Given the description of an element on the screen output the (x, y) to click on. 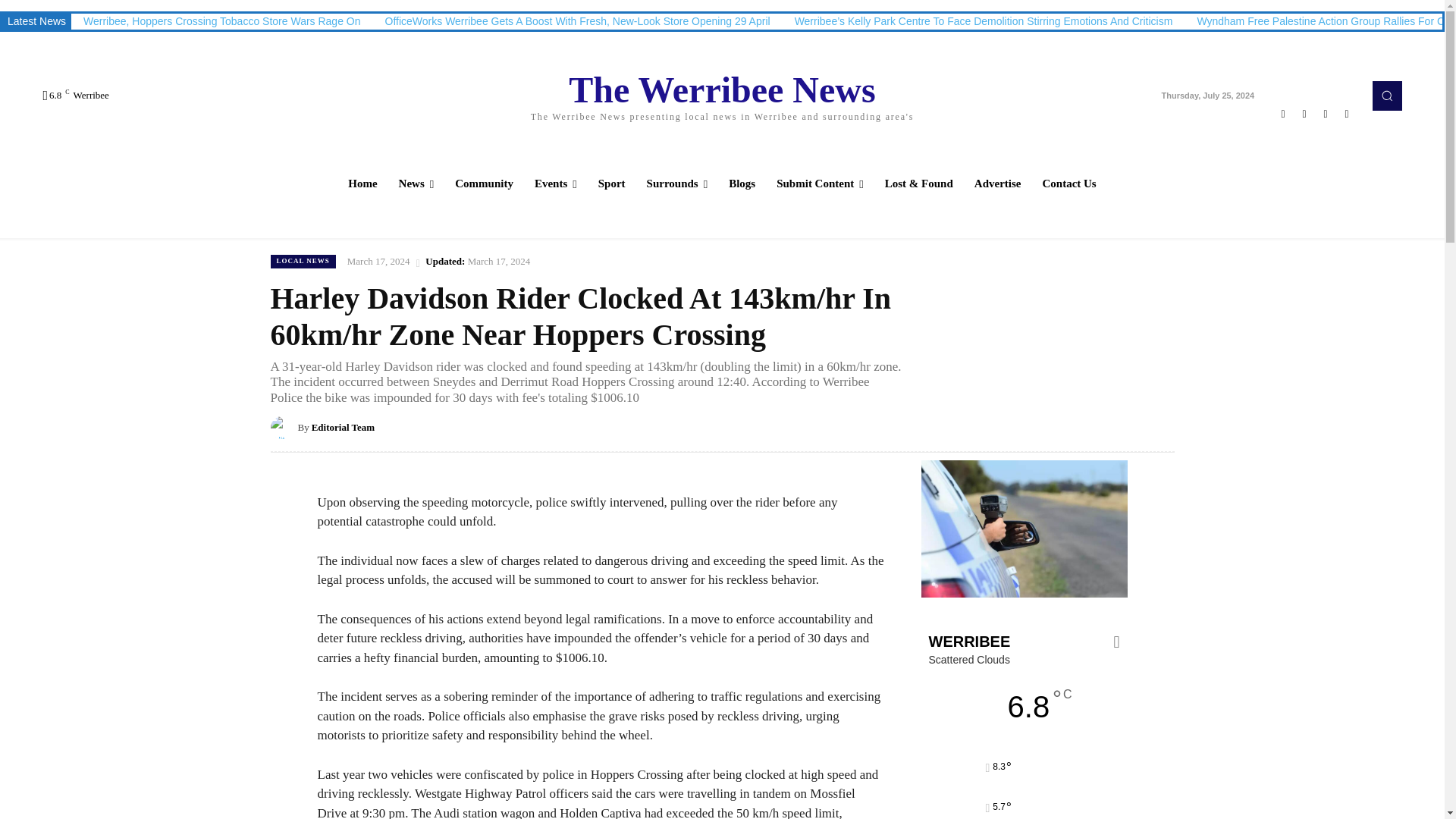
Instagram (1304, 113)
Youtube (1346, 113)
The Werribee News (721, 95)
Twitter (1325, 113)
Facebook (1283, 113)
Werribee, Hoppers Crossing Tobacco Store Wars Rage On (220, 21)
